Given the description of an element on the screen output the (x, y) to click on. 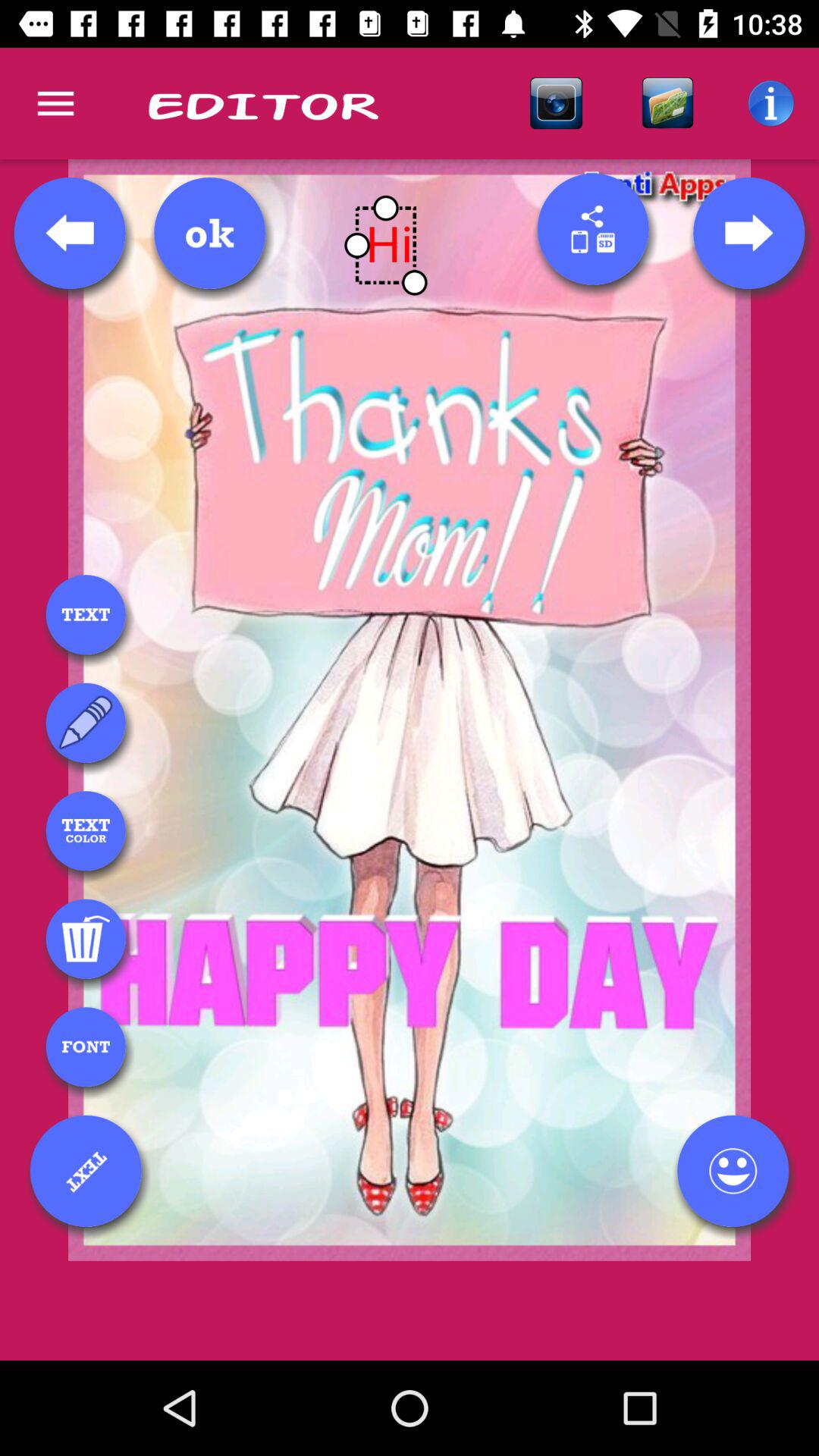
trash (85, 938)
